Given the description of an element on the screen output the (x, y) to click on. 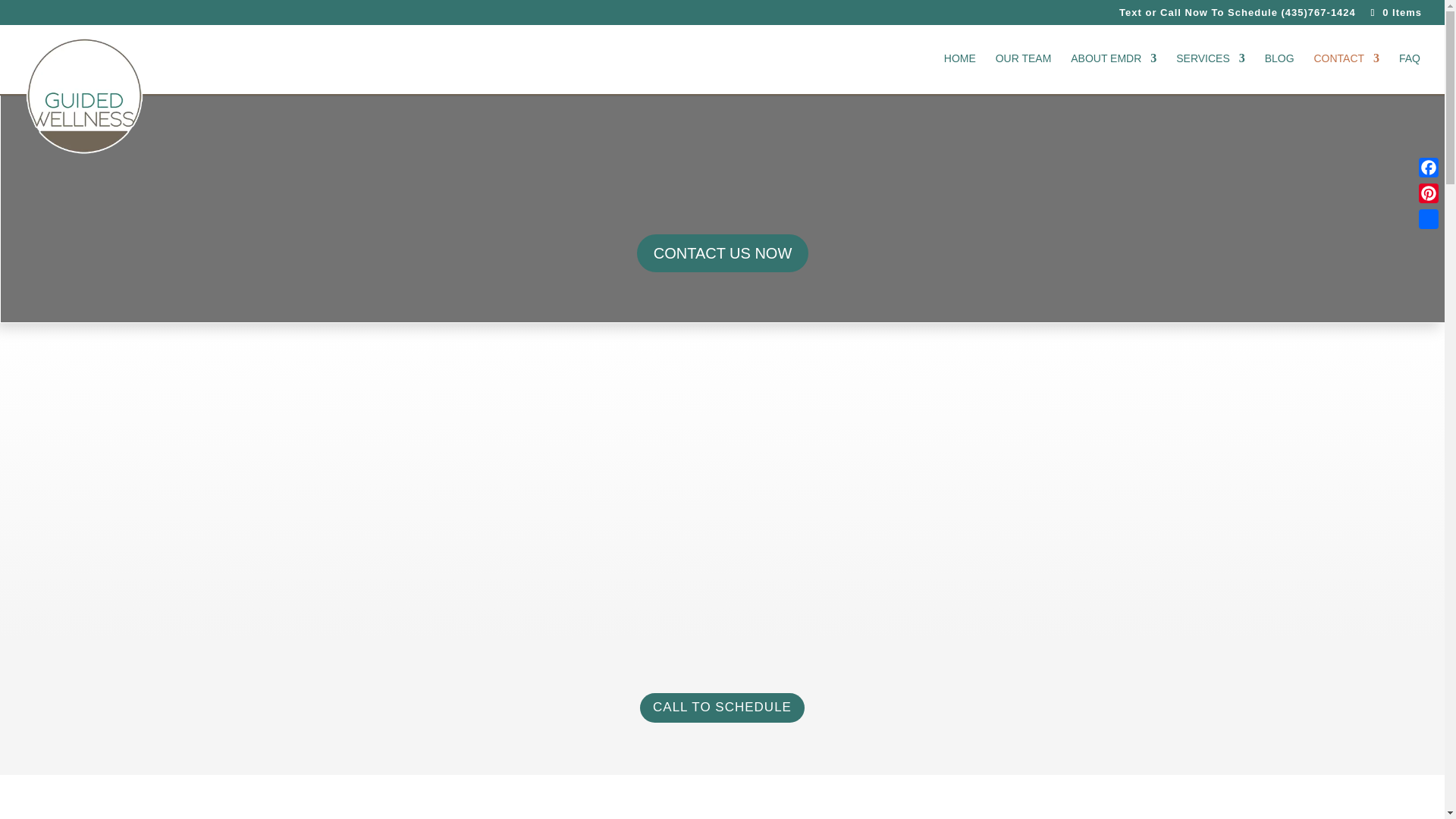
Facebook (1428, 167)
Pinterest (1428, 193)
OUR TEAM (1023, 73)
CONTACT (1345, 73)
CONTACT US NOW (723, 252)
Facebook (1428, 167)
0 Items (1394, 12)
ABOUT EMDR (1113, 73)
SERVICES (1210, 73)
Share (1428, 218)
